Given the description of an element on the screen output the (x, y) to click on. 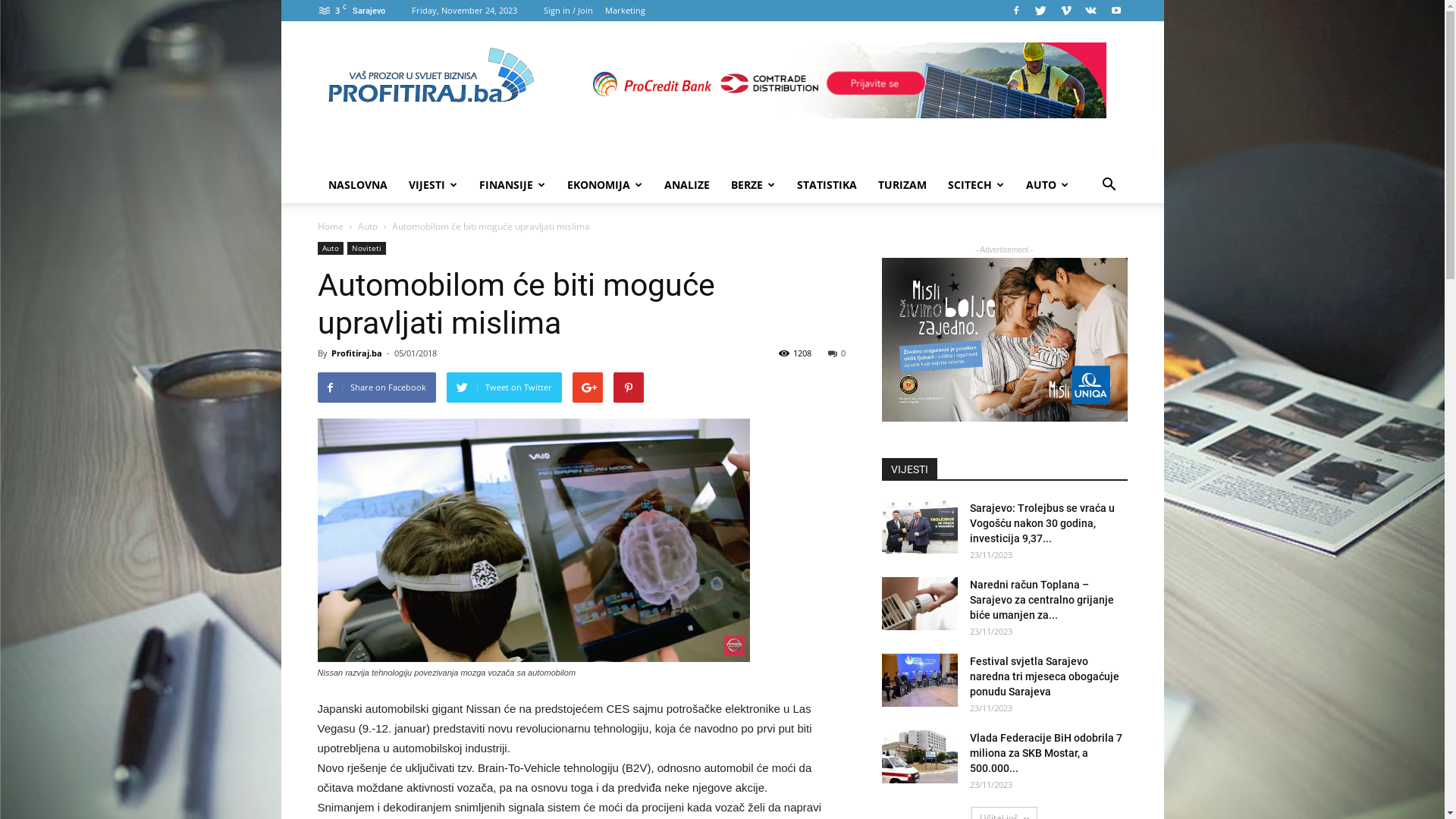
Share on Facebook Element type: text (375, 387)
FINANSIJE Element type: text (512, 184)
Tweet on Twitter Element type: text (503, 387)
Facebook Element type: hover (1015, 10)
VKontakte Element type: hover (1090, 10)
TURIZAM Element type: text (902, 184)
STATISTIKA Element type: text (825, 184)
nissan-voznja-mislima Element type: hover (532, 540)
Auto Element type: text (329, 247)
EKONOMIJA Element type: text (604, 184)
ANALIZE Element type: text (686, 184)
VIJESTI Element type: text (432, 184)
Profitiraj.ba Element type: text (355, 352)
Vimeo Element type: hover (1065, 10)
BERZE Element type: text (753, 184)
Sign in / Join Element type: text (567, 9)
AUTO Element type: text (1046, 184)
Search Element type: text (1085, 245)
Home Element type: text (329, 225)
Noviteti Element type: text (366, 247)
Auto Element type: text (367, 225)
Twitter Element type: hover (1040, 10)
Youtube Element type: hover (1115, 10)
Marketing Element type: text (625, 9)
0 Element type: text (836, 352)
SCITECH Element type: text (976, 184)
NASLOVNA Element type: text (356, 184)
